Given the description of an element on the screen output the (x, y) to click on. 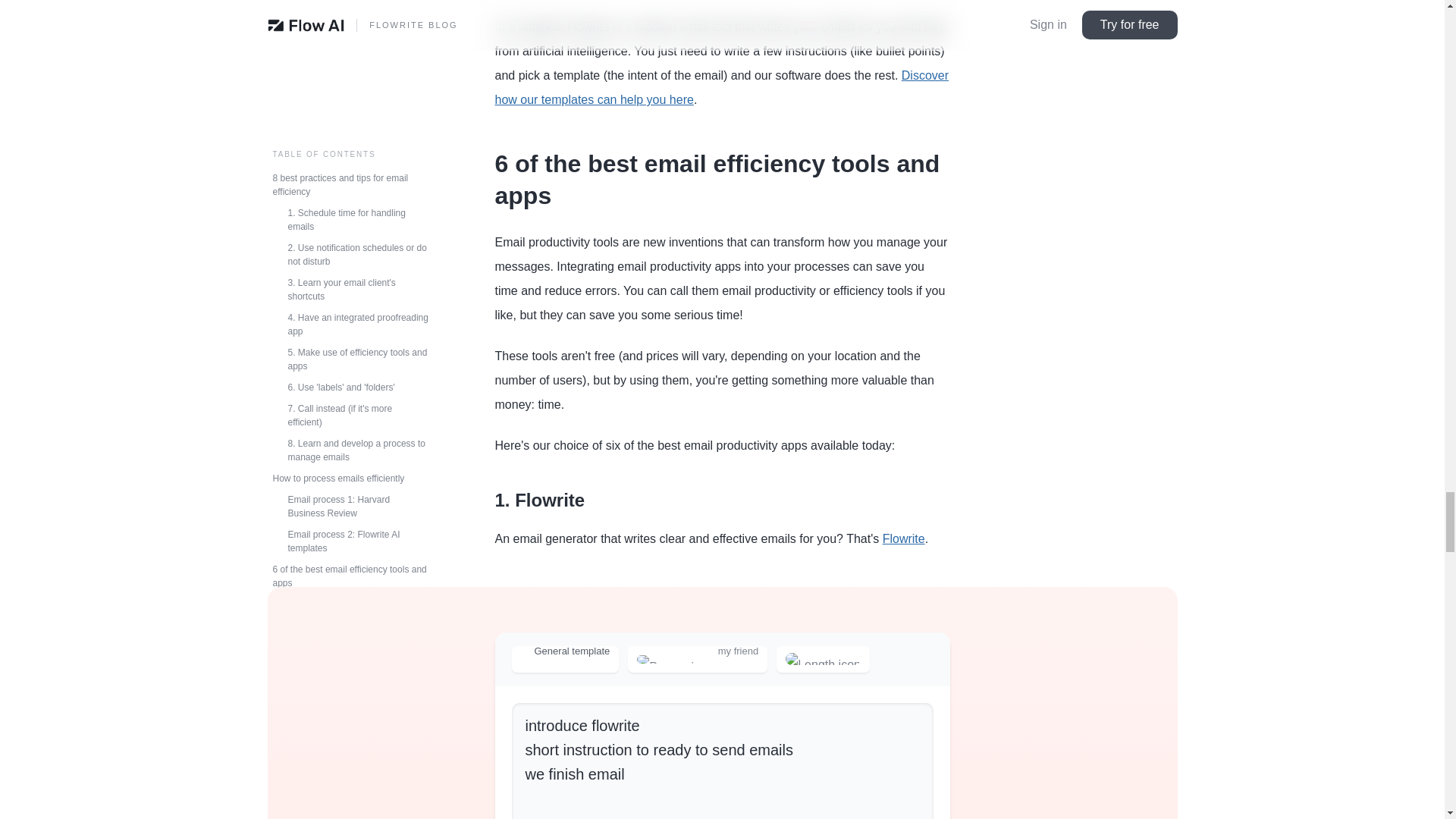
Discover how our templates can help you here (722, 87)
